Given the description of an element on the screen output the (x, y) to click on. 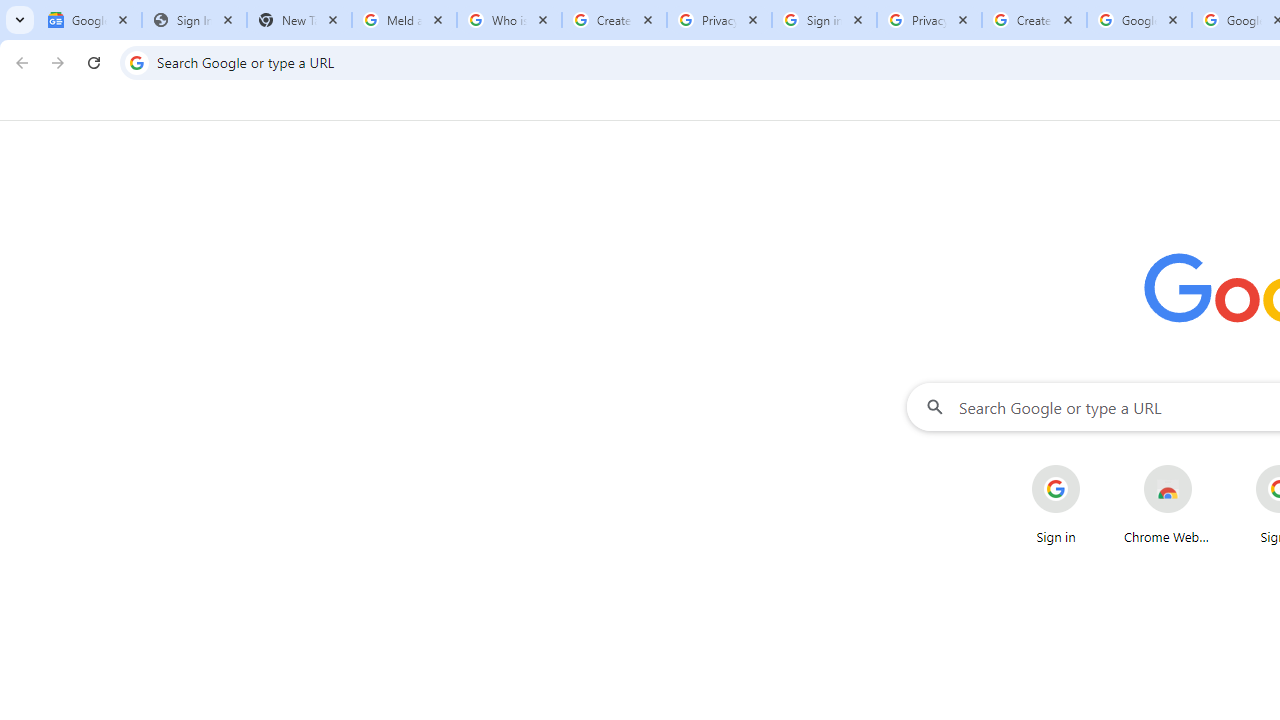
Create your Google Account (613, 20)
Sign in - Google Accounts (823, 20)
More actions for Chrome Web Store shortcut (1208, 466)
More actions for Sign in shortcut (1095, 466)
Who is my administrator? - Google Account Help (509, 20)
Chrome Web Store (1167, 504)
Google News (89, 20)
Create your Google Account (1033, 20)
